Given the description of an element on the screen output the (x, y) to click on. 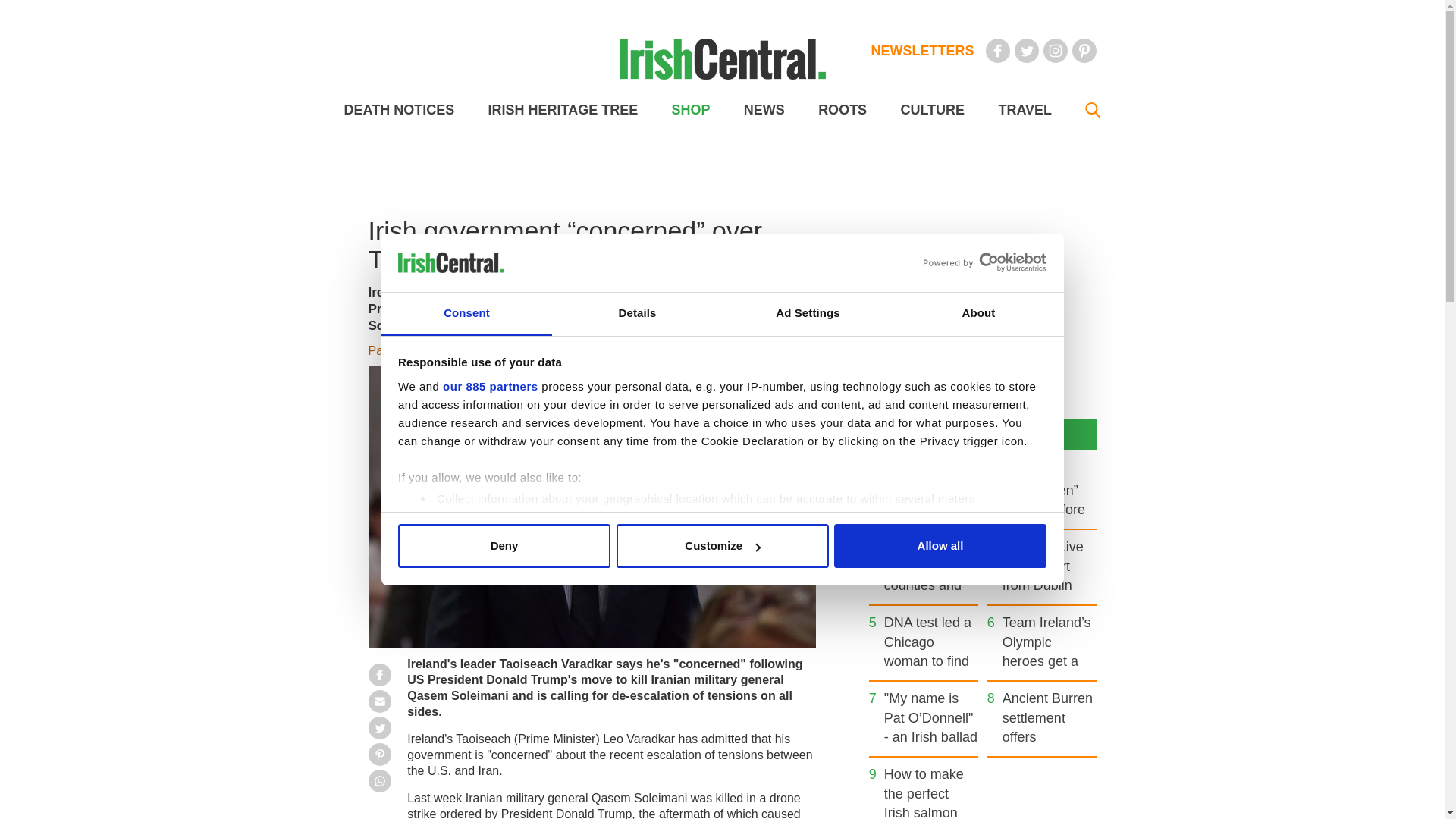
Details (636, 313)
our 885 partners (490, 386)
About (978, 313)
Ad Settings (807, 313)
Consent (465, 313)
details section (927, 536)
